Given the description of an element on the screen output the (x, y) to click on. 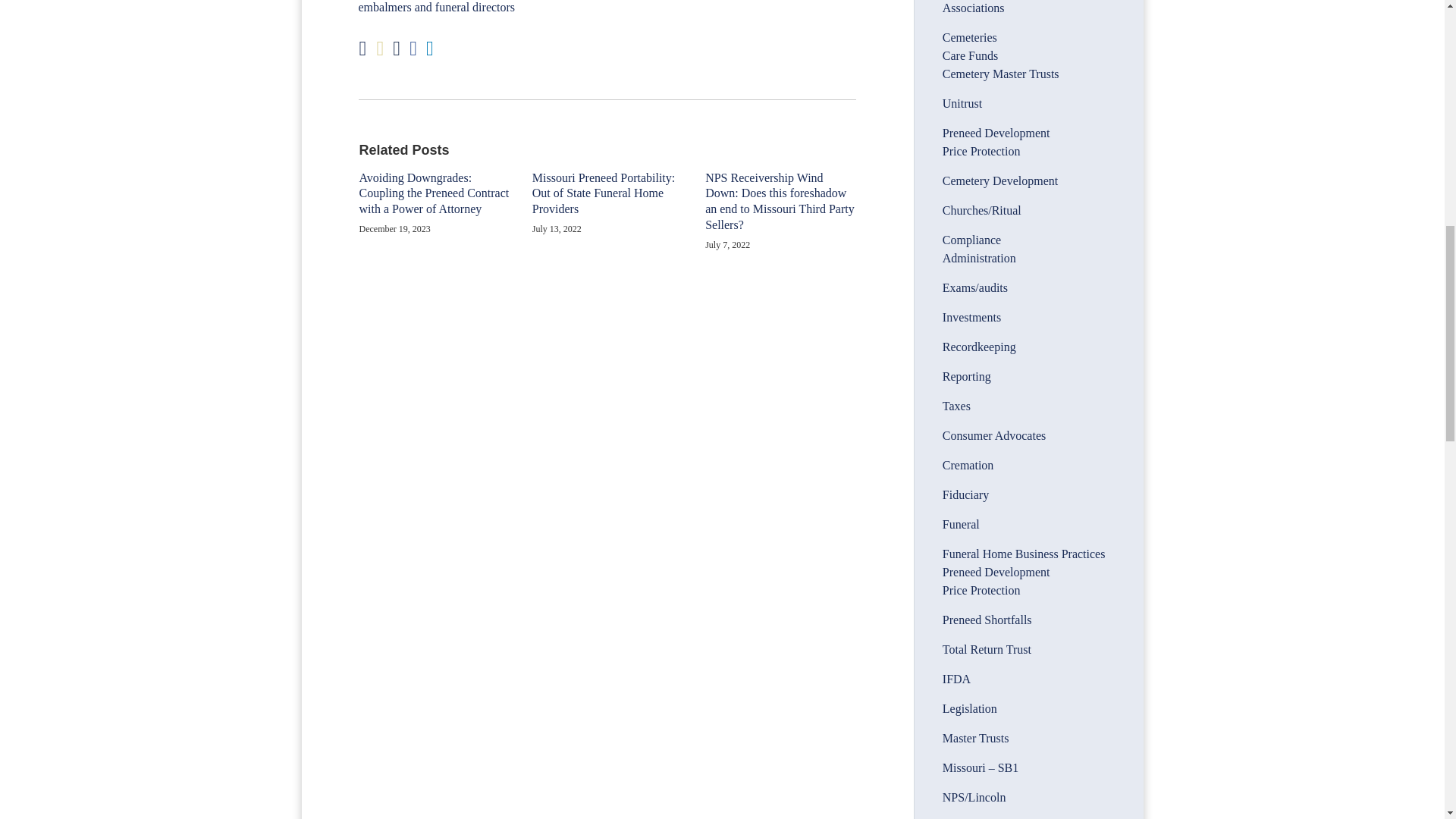
Associations (973, 7)
state board of embalmers and funeral directors (591, 6)
Cemeteries (969, 37)
